Given the description of an element on the screen output the (x, y) to click on. 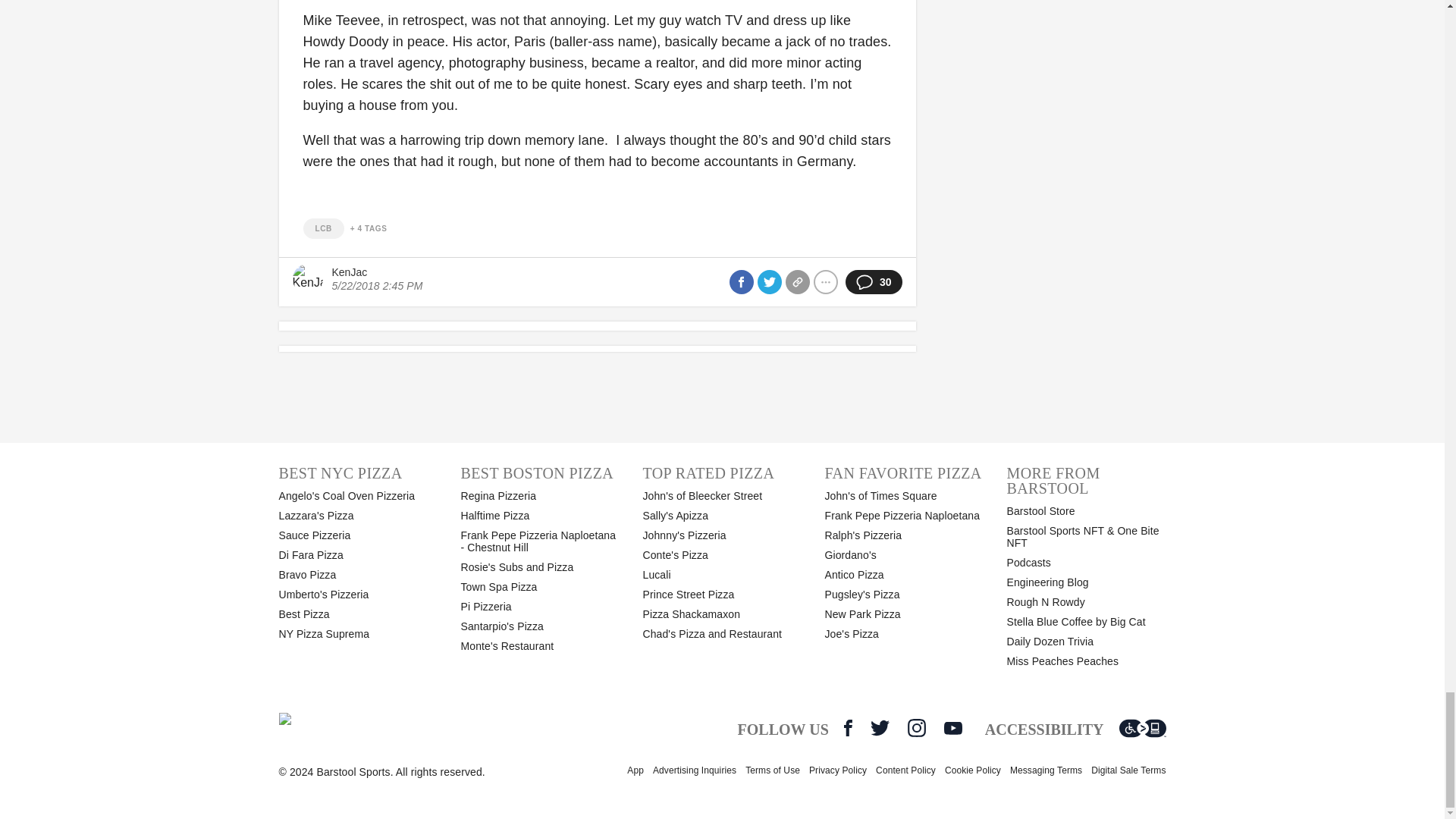
Level Access website accessibility icon (1142, 728)
Instagram Icon (916, 728)
Twitter Icon (879, 728)
YouTube Icon (952, 728)
